Given the description of an element on the screen output the (x, y) to click on. 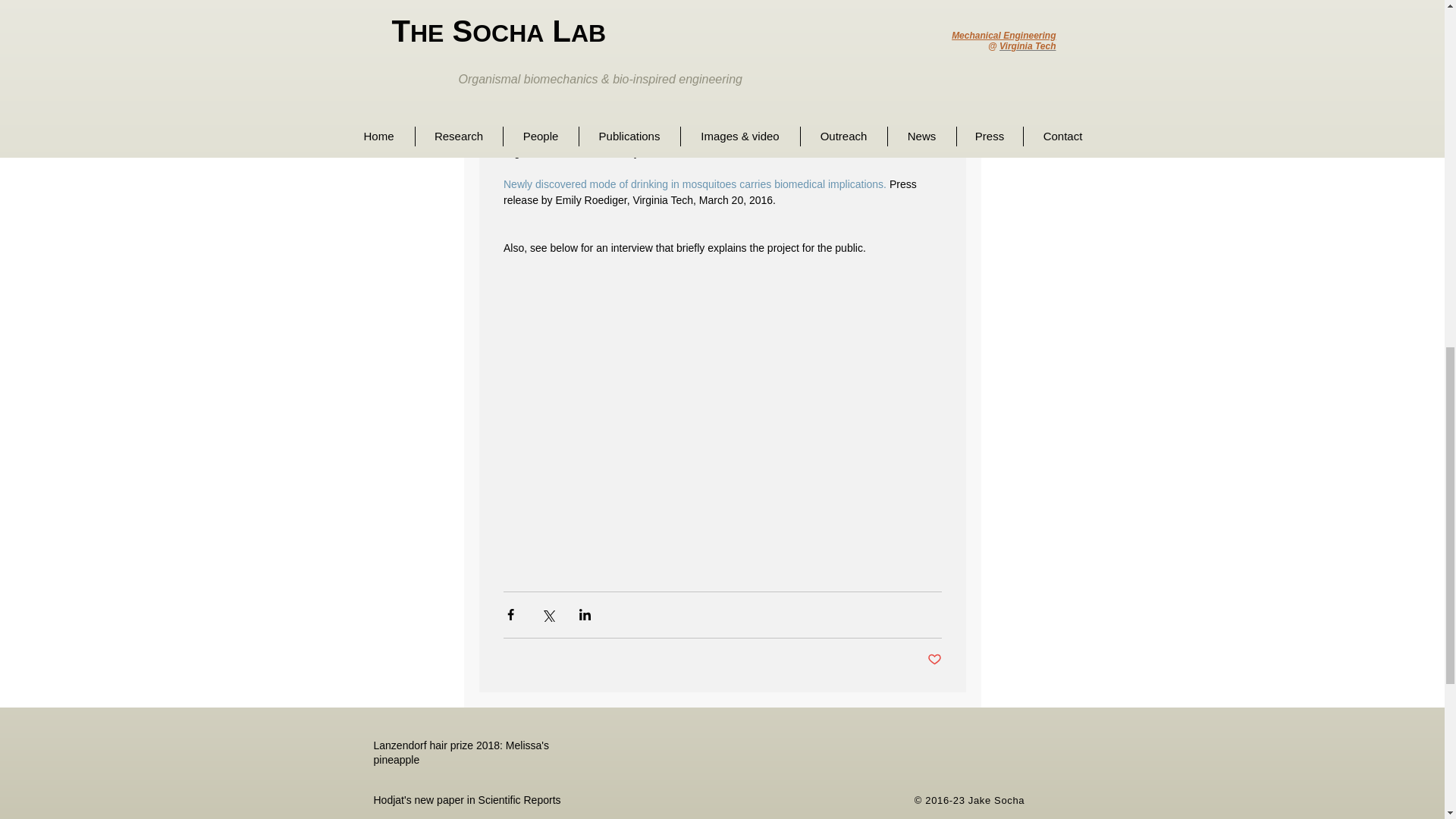
Twitter Follow (944, 776)
Twitter Follow (946, 750)
Mosquitoes drink with a burst in reserve. (598, 136)
Lanzendorf hair prize 2018: Melissa's pineapple (482, 755)
Hodjat's new paper in Scientific Reports (482, 803)
Post not marked as liked (933, 659)
